Given the description of an element on the screen output the (x, y) to click on. 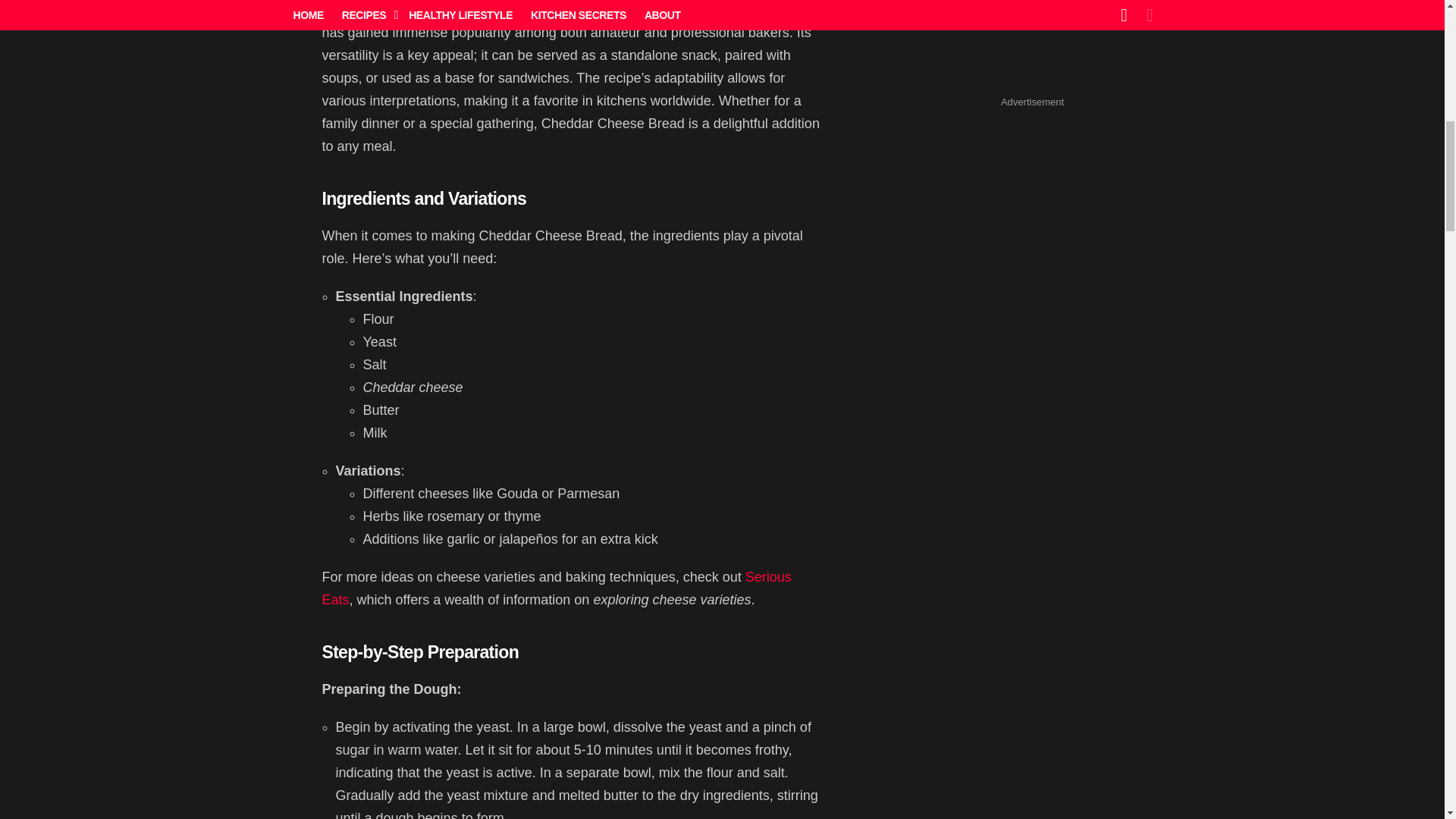
Serious Eats (555, 588)
